Given the description of an element on the screen output the (x, y) to click on. 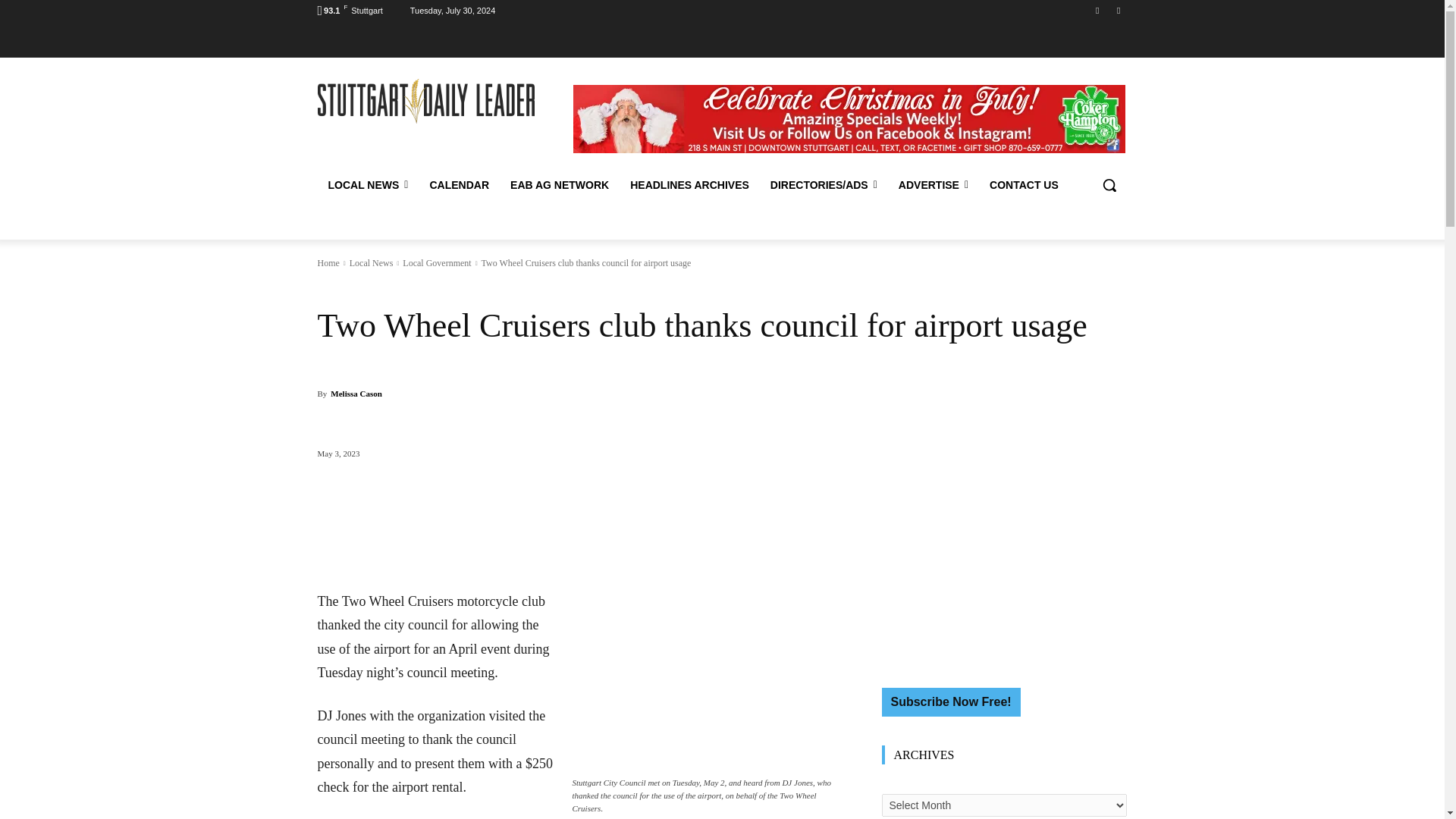
Twitter (1117, 9)
View all posts in Local News (371, 262)
Facebook (1097, 9)
View all posts in Local Government (436, 262)
LOCAL NEWS (368, 185)
